Given the description of an element on the screen output the (x, y) to click on. 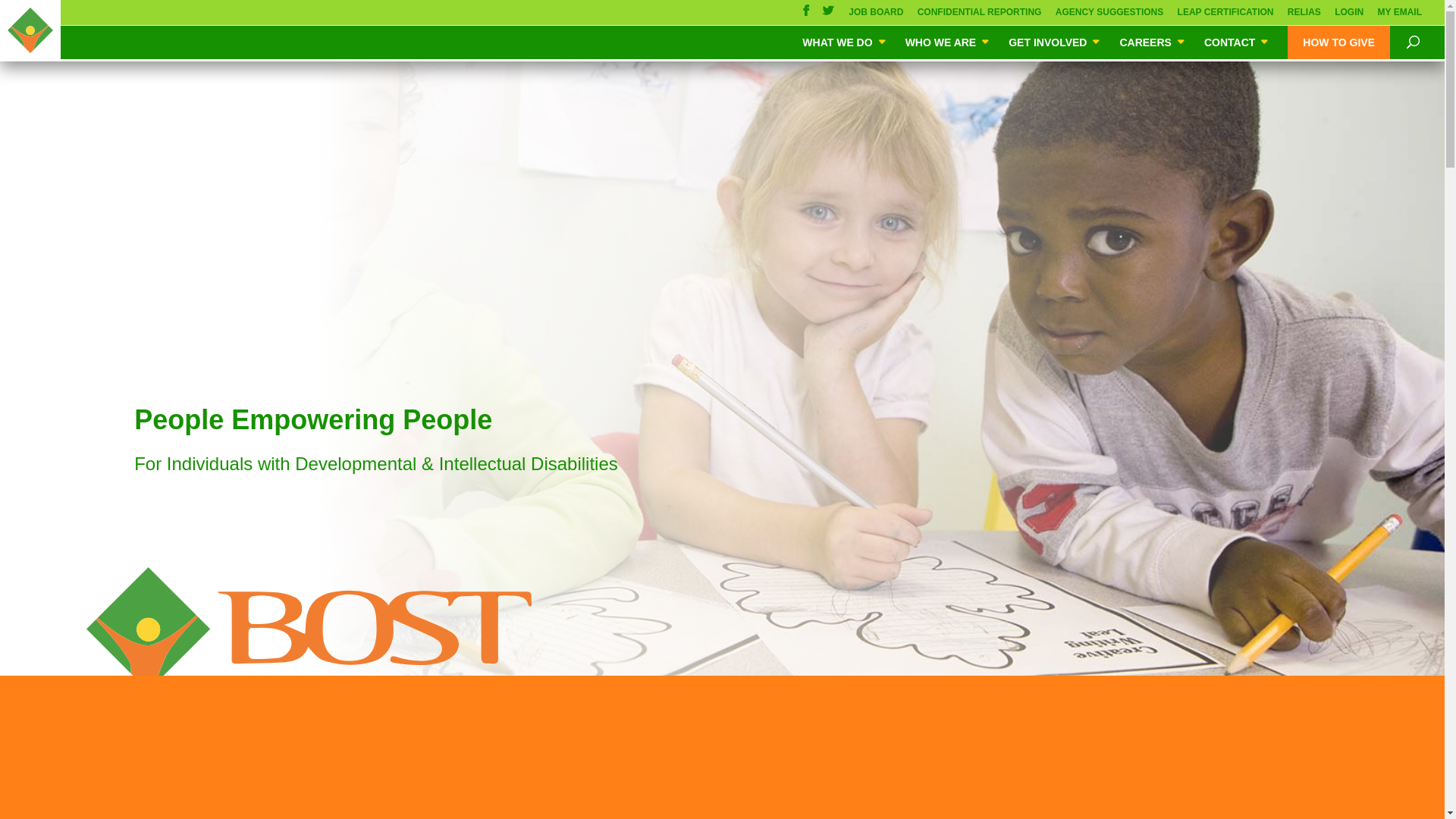
MY EMAIL (1399, 16)
CONFIDENTIAL REPORTING (979, 16)
JOB BOARD (875, 16)
RELIAS (1303, 16)
WHO WE ARE (948, 41)
CAREERS (1152, 41)
CONTACT (1236, 41)
WHAT WE DO (844, 41)
LEAP CERTIFICATION (1225, 16)
LOGIN (1348, 16)
